Given the description of an element on the screen output the (x, y) to click on. 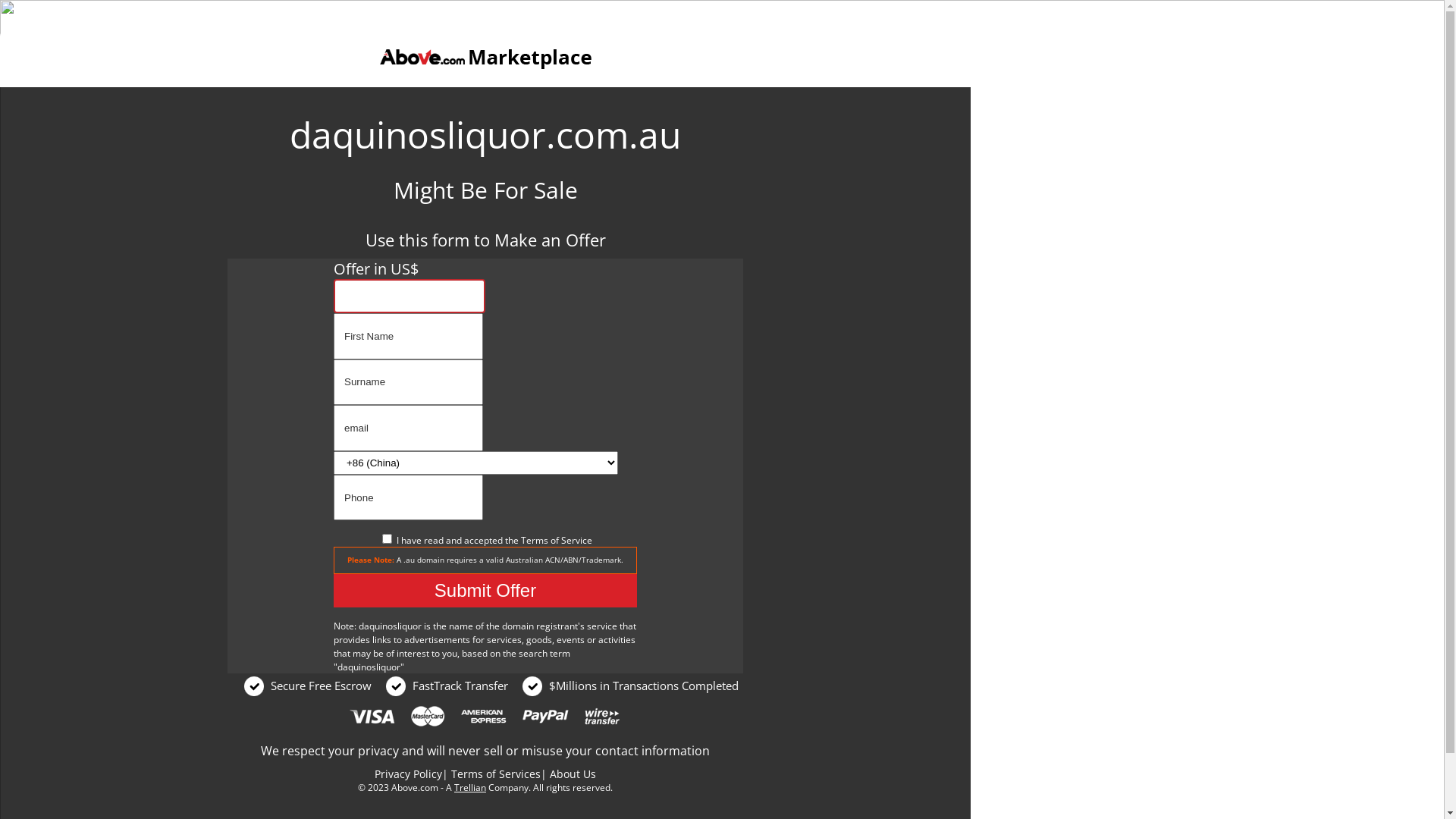
Submit Offer Element type: text (485, 590)
Terms of Services Element type: text (495, 773)
Privacy Policy Element type: text (408, 773)
Terms Element type: text (533, 539)
Trellian Element type: text (470, 787)
About Us Element type: text (572, 773)
